Given the description of an element on the screen output the (x, y) to click on. 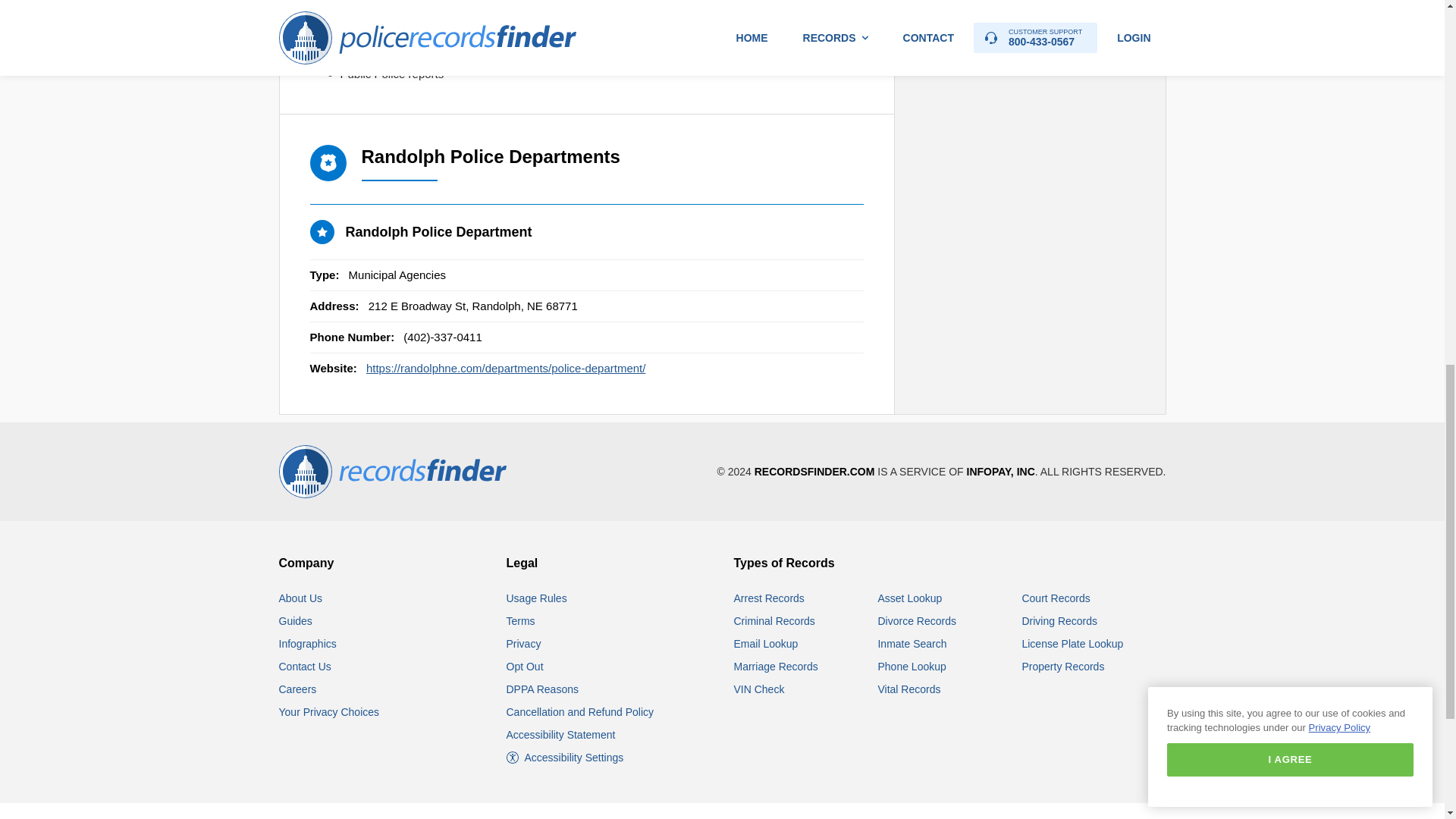
View Public Records Infographics and Statistics (307, 644)
RecordsFinder.com Cancellation and Refund Policy (579, 711)
RecordsFinder.com Opt Out Instructions (524, 666)
Guides and How tos (296, 621)
Careers at RecordsFinder.com (298, 689)
RecordsFinder.com Usage Rules (536, 598)
RecordsFinder.com Accessibility Statement (560, 734)
Contact RecordsFinder.com (305, 666)
Your Privacy Choices (329, 711)
RecordsFinder.com Terms and Conditions (520, 621)
About RecordsFinder.com (301, 598)
RecordsFinder.com DPPA Reasons (542, 689)
RecordsFinder.com Privacy Policy (523, 644)
